Given the description of an element on the screen output the (x, y) to click on. 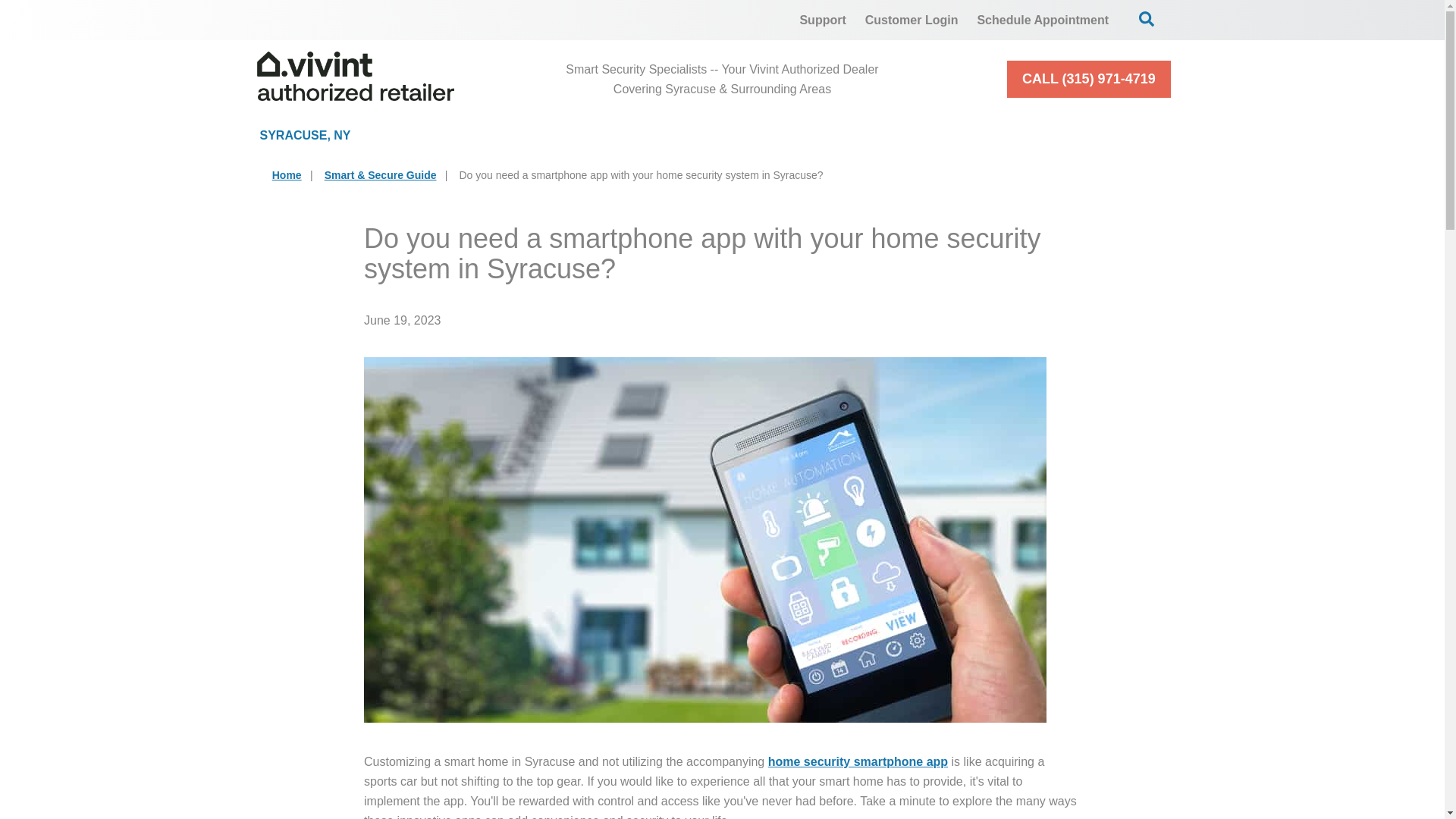
Support (822, 20)
Cameras (664, 135)
Smart Home Automation (865, 135)
Home security app in Syracuse (857, 761)
Schedule Appointment (1042, 20)
Home (286, 174)
Home Security (490, 135)
Open Search (1146, 18)
Customer Login (911, 20)
home security smartphone app (857, 761)
